Given the description of an element on the screen output the (x, y) to click on. 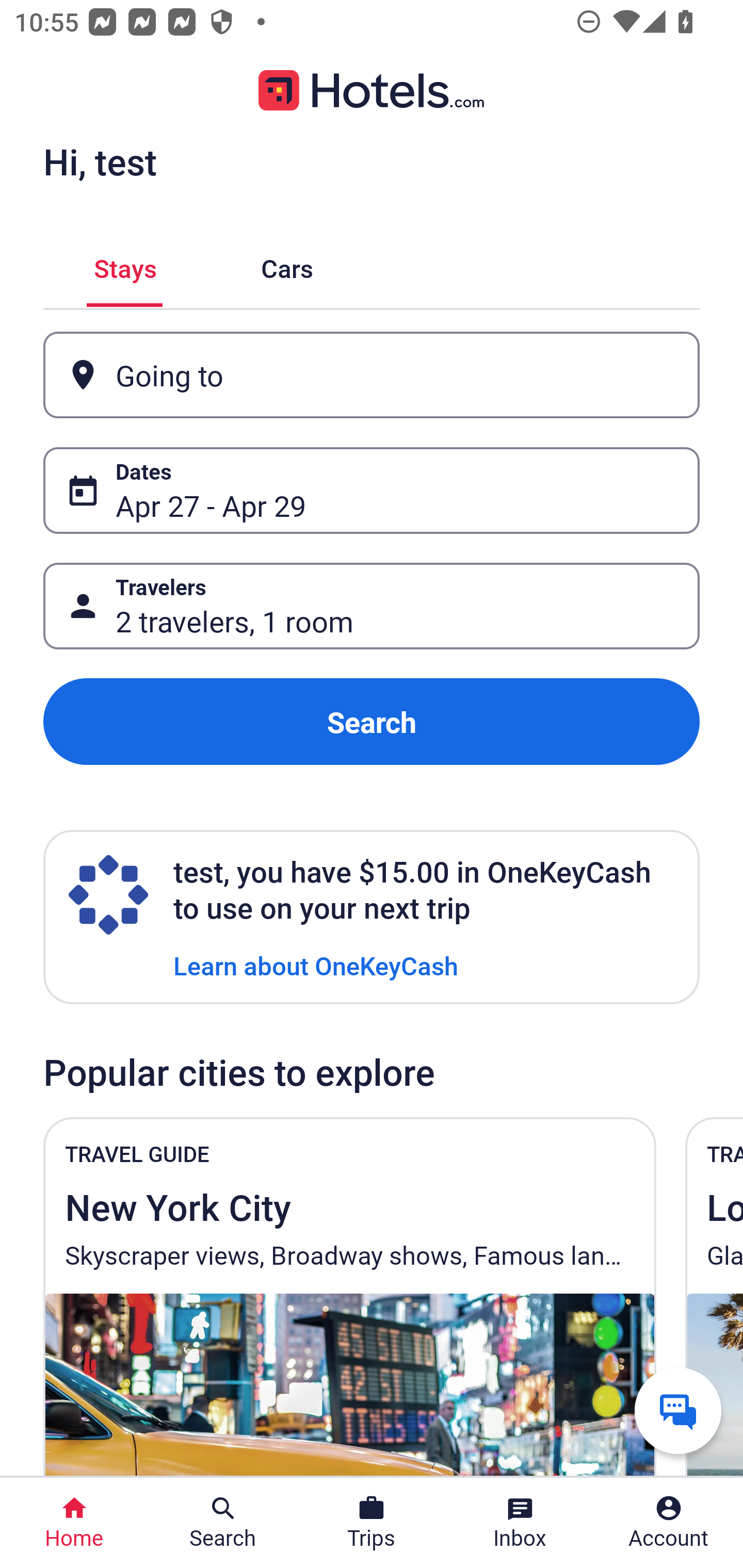
Hi, test (99, 161)
Cars (286, 265)
Going to Button (371, 375)
Dates Button Apr 27 - Apr 29 (371, 489)
Travelers Button 2 travelers, 1 room (371, 605)
Search (371, 721)
Learn about OneKeyCash Learn about OneKeyCash Link (315, 964)
Get help from a virtual agent (677, 1410)
Search Search Button (222, 1522)
Trips Trips Button (371, 1522)
Inbox Inbox Button (519, 1522)
Account Profile. Button (668, 1522)
